Given the description of an element on the screen output the (x, y) to click on. 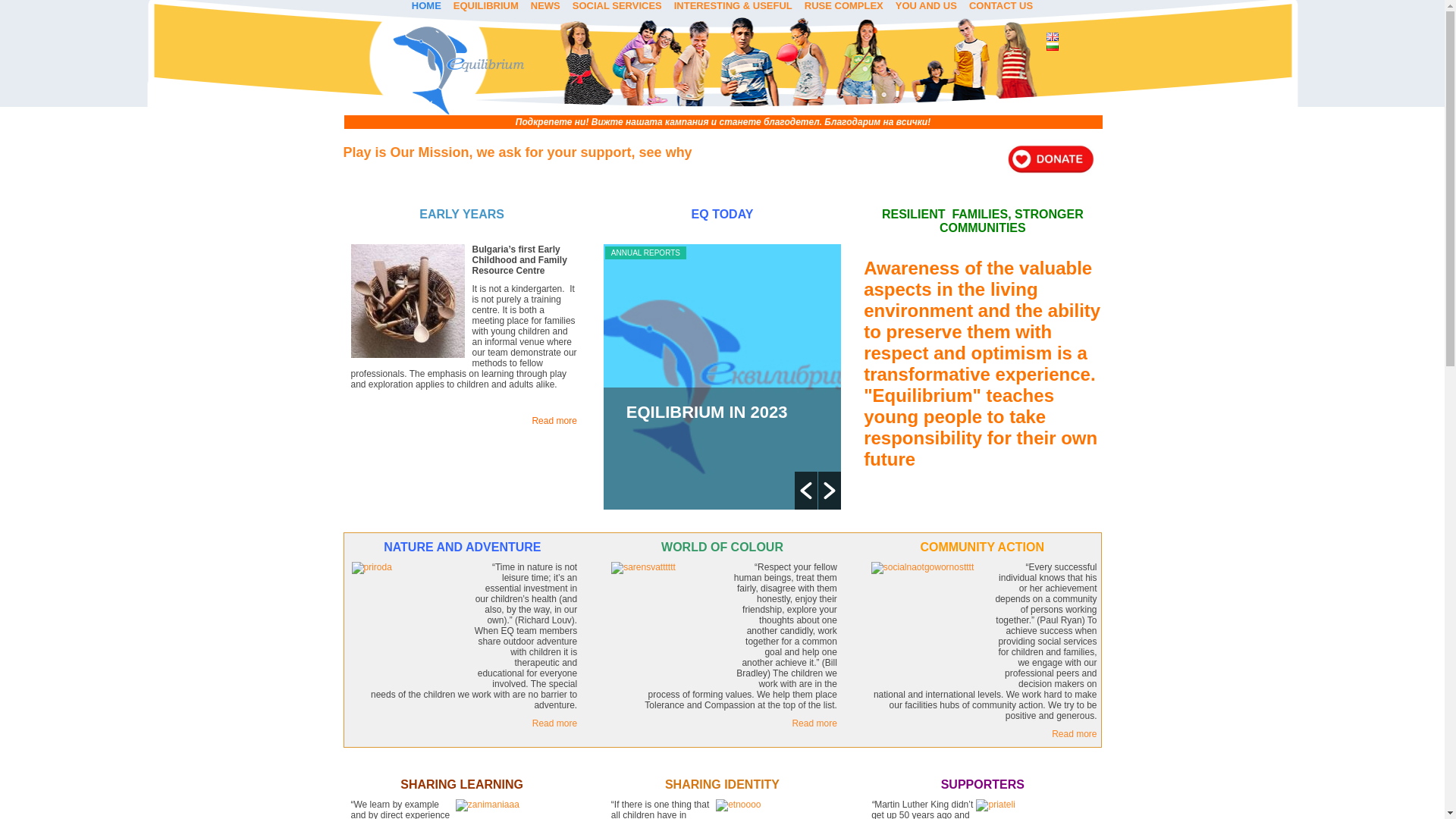
YOU AND US (925, 6)
EQUILIBRIUM (485, 6)
CONTACT US (1000, 6)
News (545, 6)
SOCIAL SERVICES (617, 6)
HOME (426, 6)
RUSE COMPLEX (843, 6)
Read more (553, 420)
Social services (617, 6)
Play is Our Mission, we ask for your support, see why (516, 151)
